Given the description of an element on the screen output the (x, y) to click on. 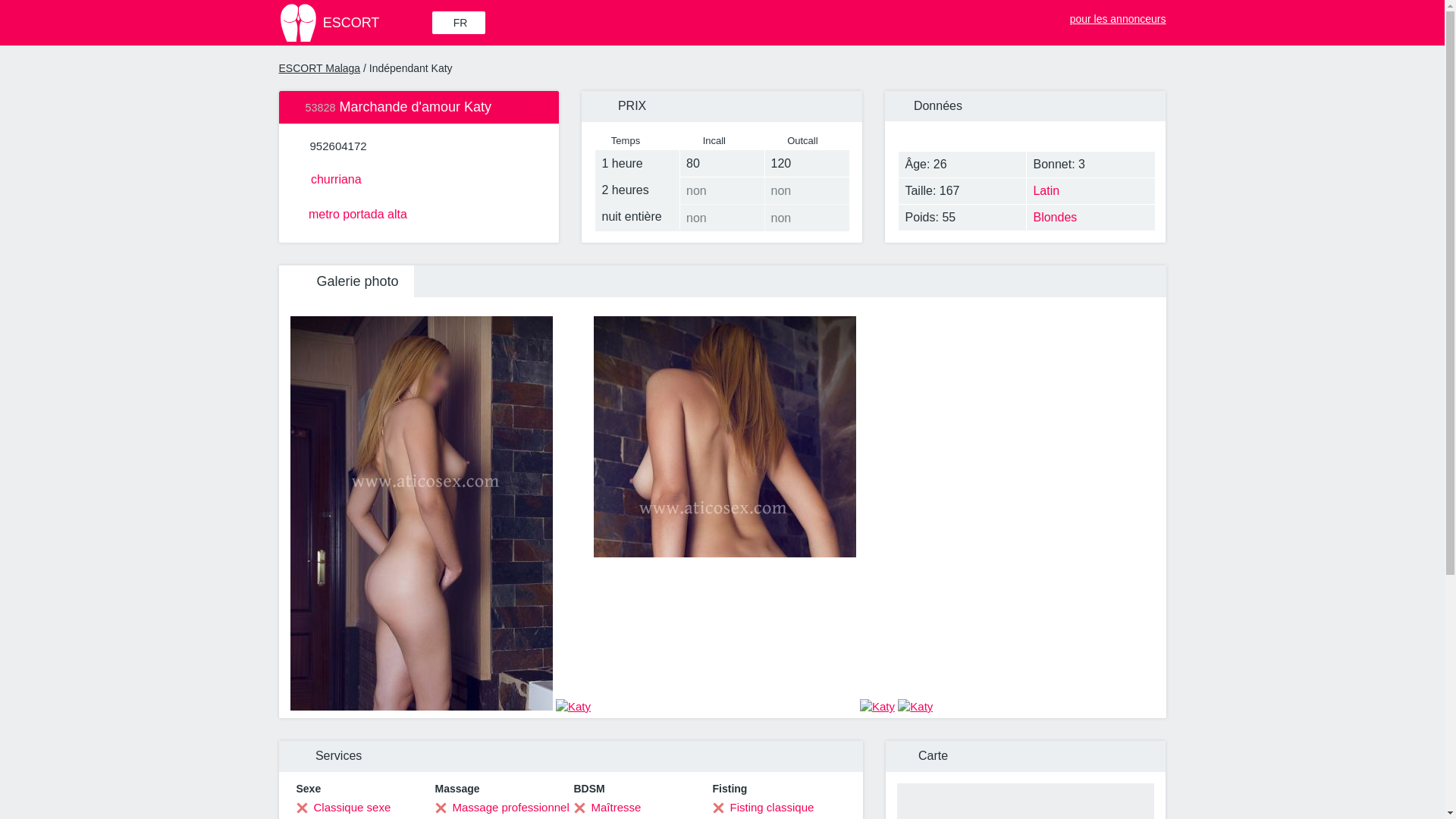
952604172 (338, 145)
Galerie photo (346, 281)
churriana (418, 177)
Latin (1090, 191)
metro portada alta (418, 212)
ESCORT Malaga (320, 68)
Classique sexe (342, 807)
Massage professionnel (502, 807)
pour les annonceurs (1109, 15)
ESCORT (354, 22)
